Given the description of an element on the screen output the (x, y) to click on. 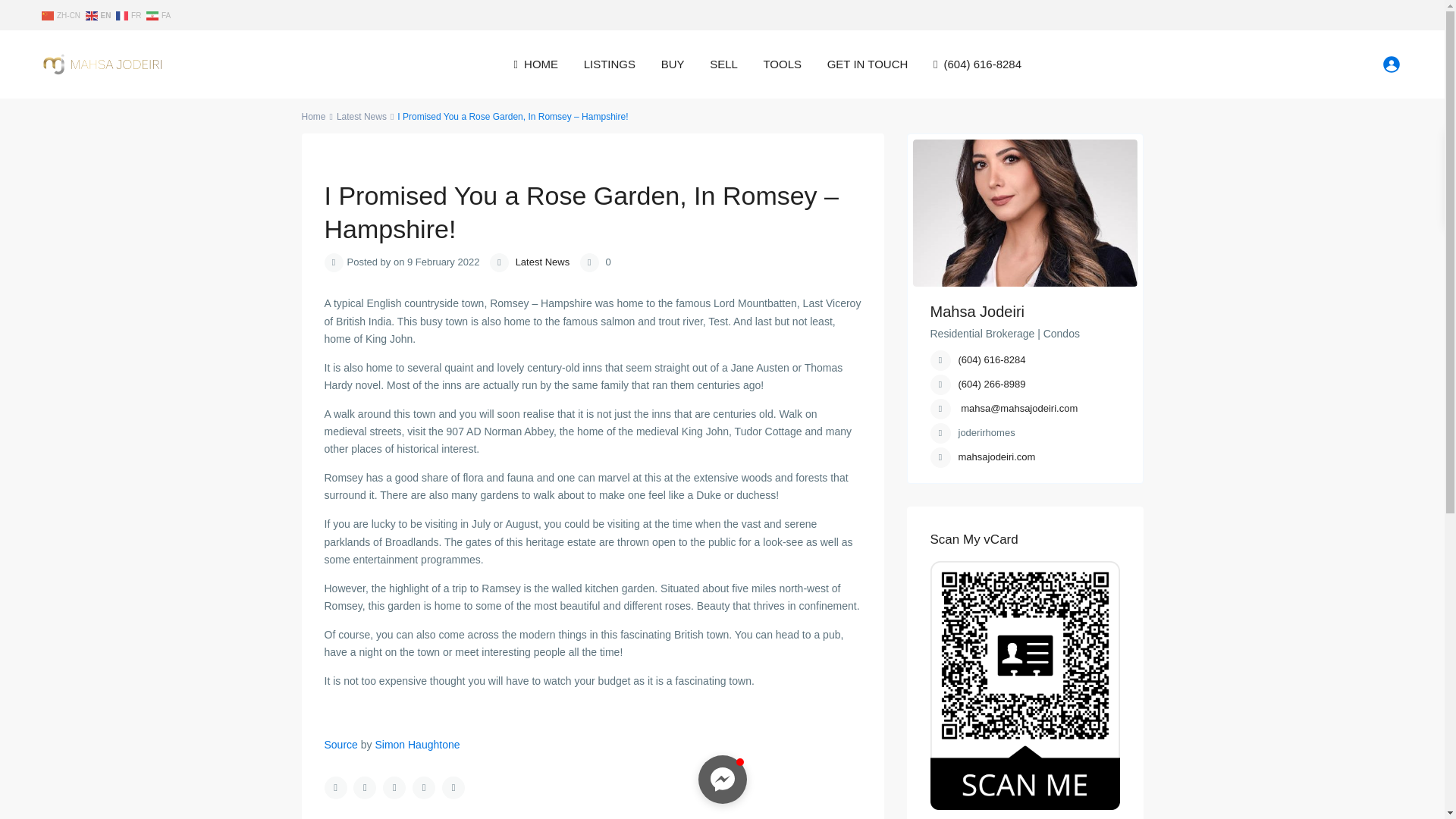
FA (160, 14)
French (129, 14)
EN (99, 14)
English (99, 14)
Persian (160, 14)
BUY (672, 64)
ZH-CN (62, 14)
LISTINGS (609, 64)
FR (129, 14)
HOME (535, 64)
